Given the description of an element on the screen output the (x, y) to click on. 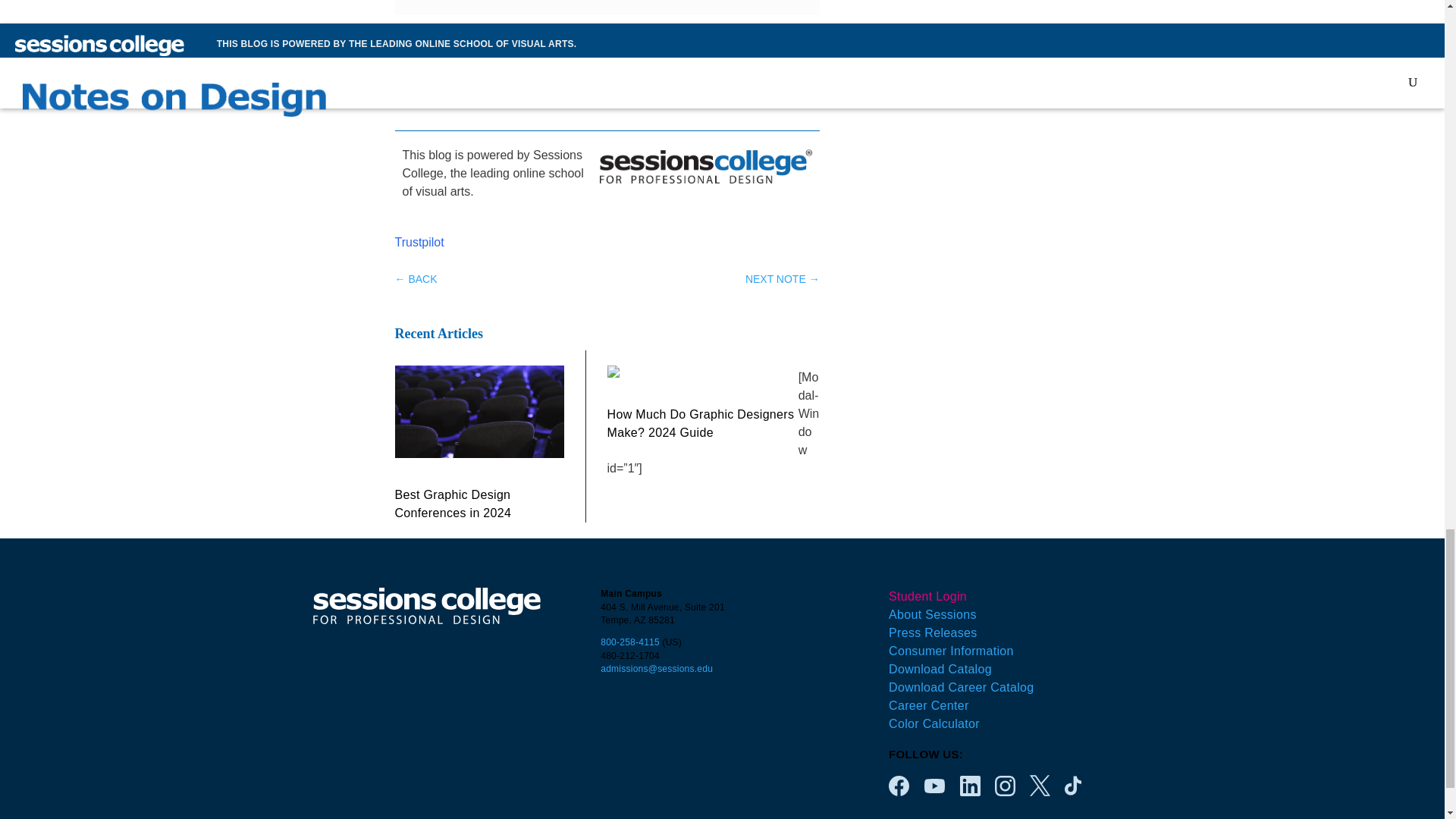
facebook (898, 785)
